Given the description of an element on the screen output the (x, y) to click on. 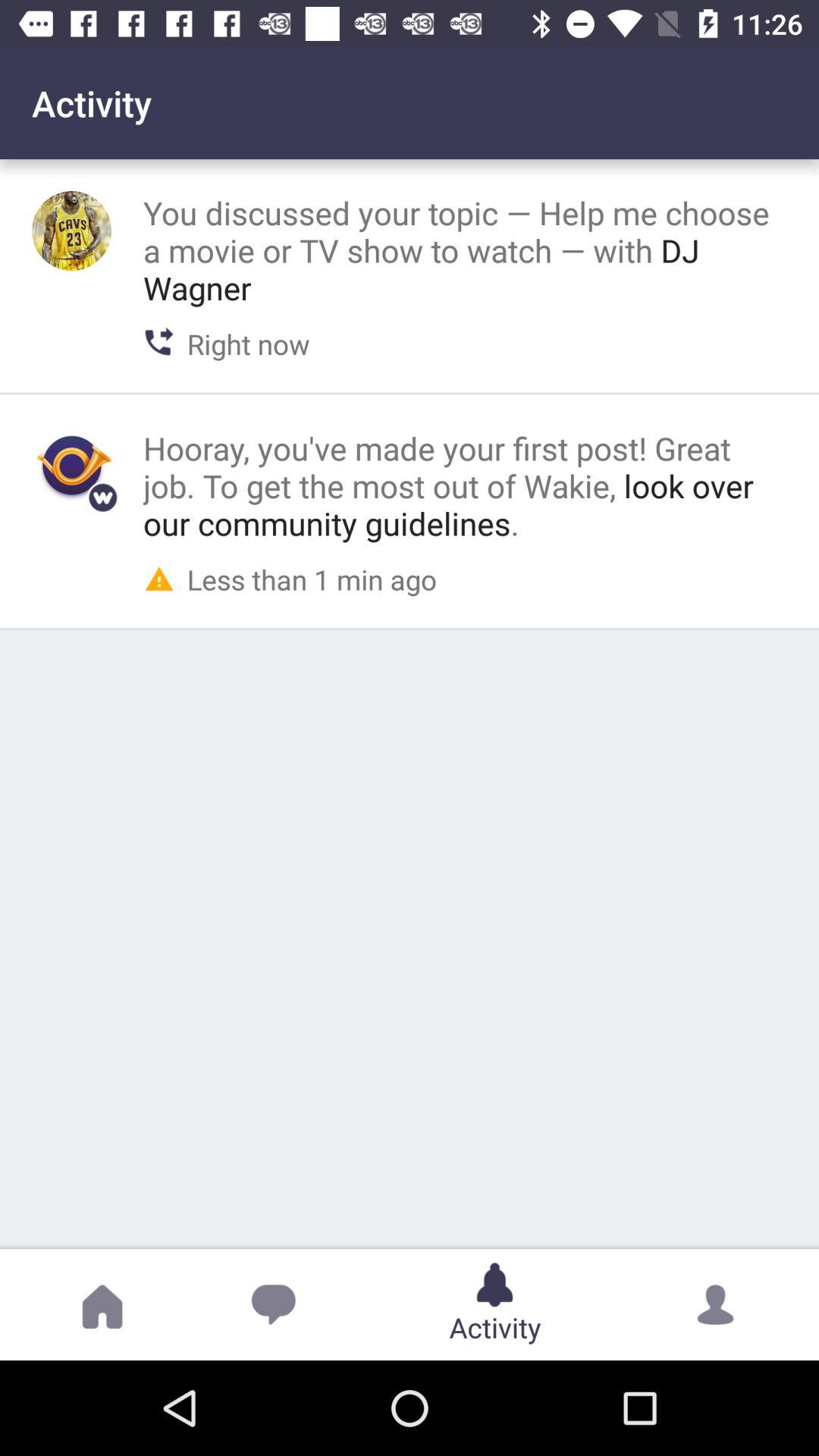
profile picture option (71, 230)
